Given the description of an element on the screen output the (x, y) to click on. 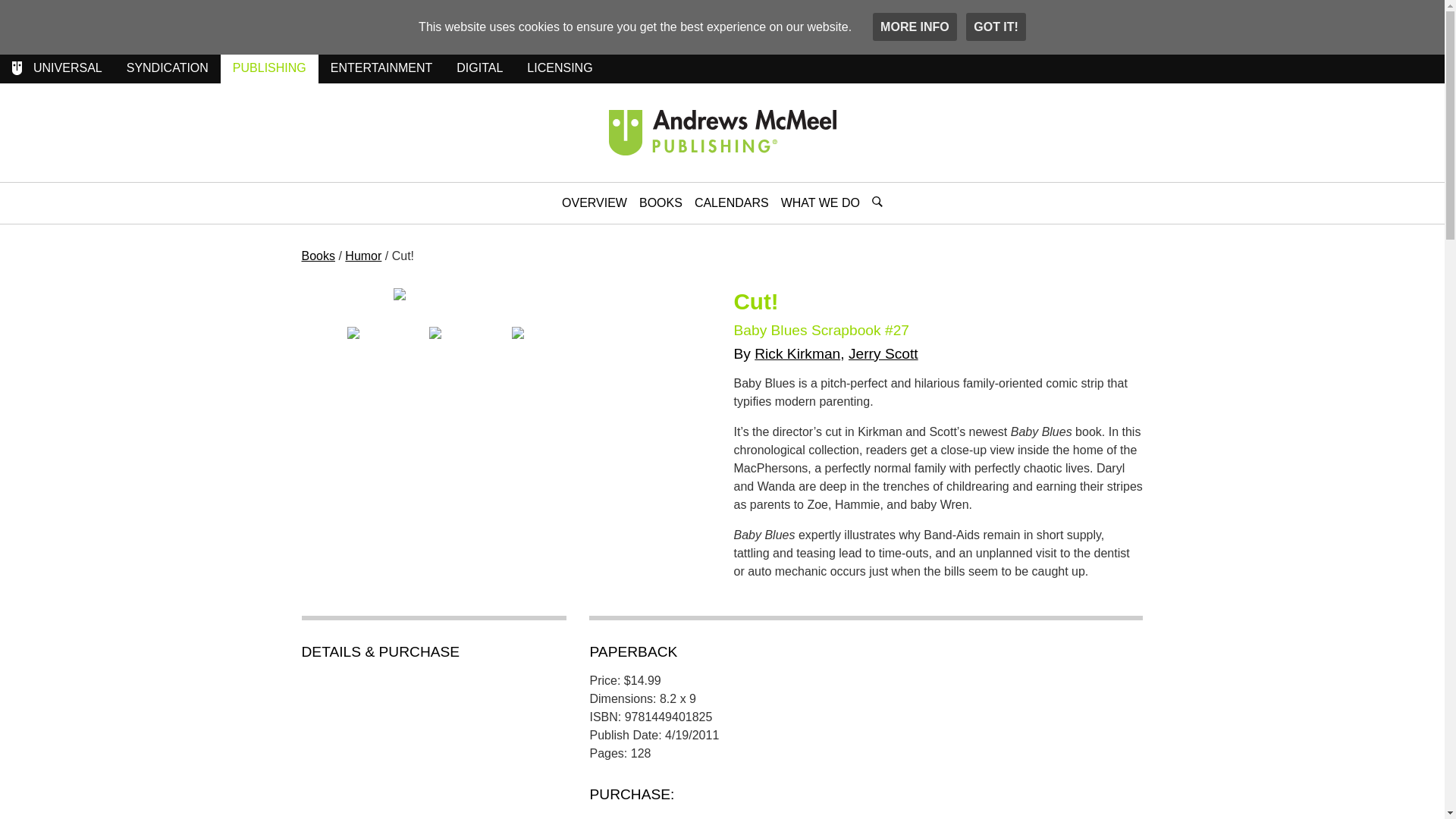
Rick Kirkman (797, 353)
Go to Books. (363, 255)
BOOKS (660, 202)
PUBLISHING (269, 68)
MORE INFO (914, 26)
WHAT WE DO (820, 202)
GOT IT! (996, 26)
Books (317, 255)
ENTERTAINMENT (381, 68)
CALENDARS (731, 202)
